Given the description of an element on the screen output the (x, y) to click on. 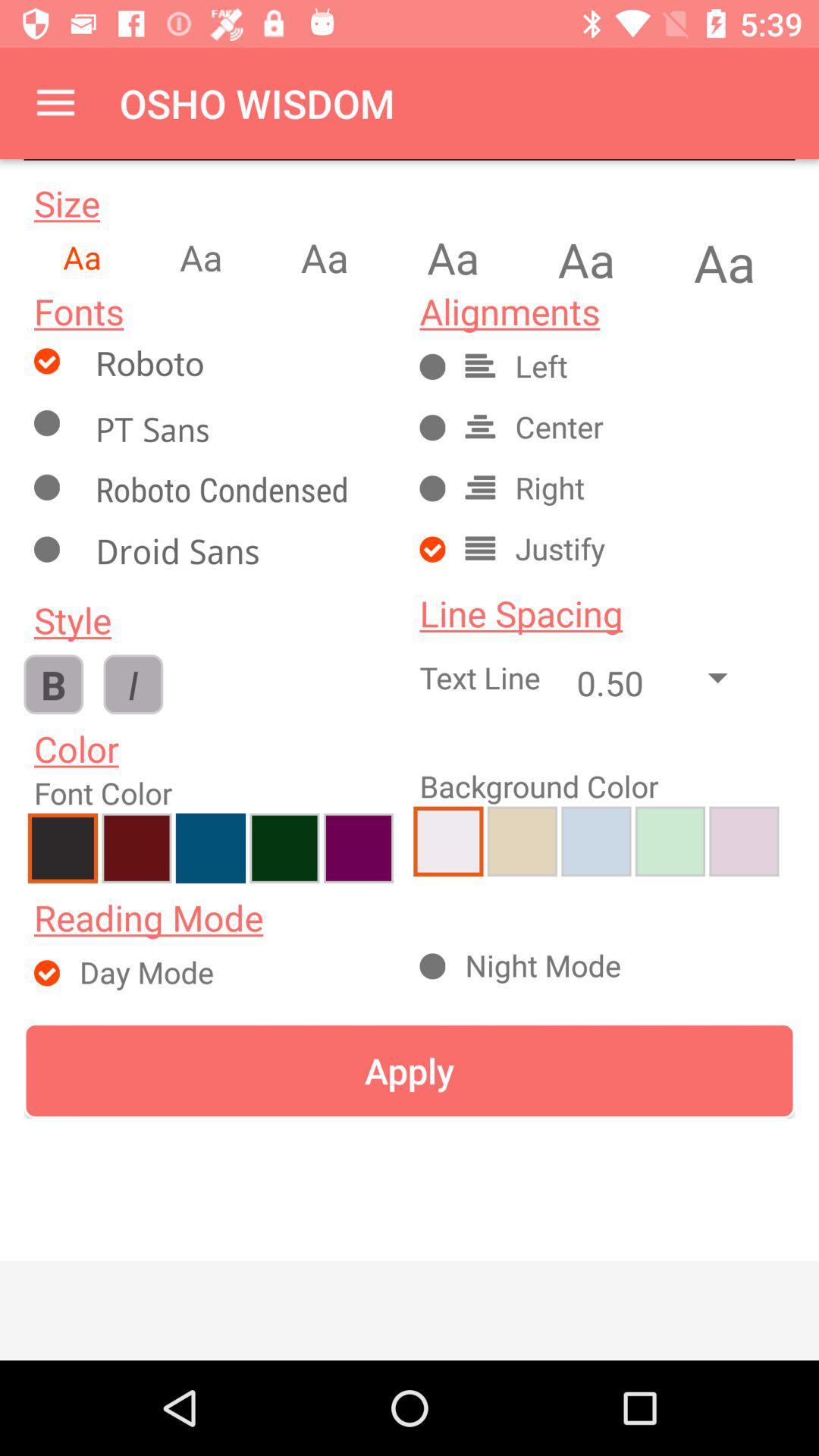
select purple color (744, 841)
